Given the description of an element on the screen output the (x, y) to click on. 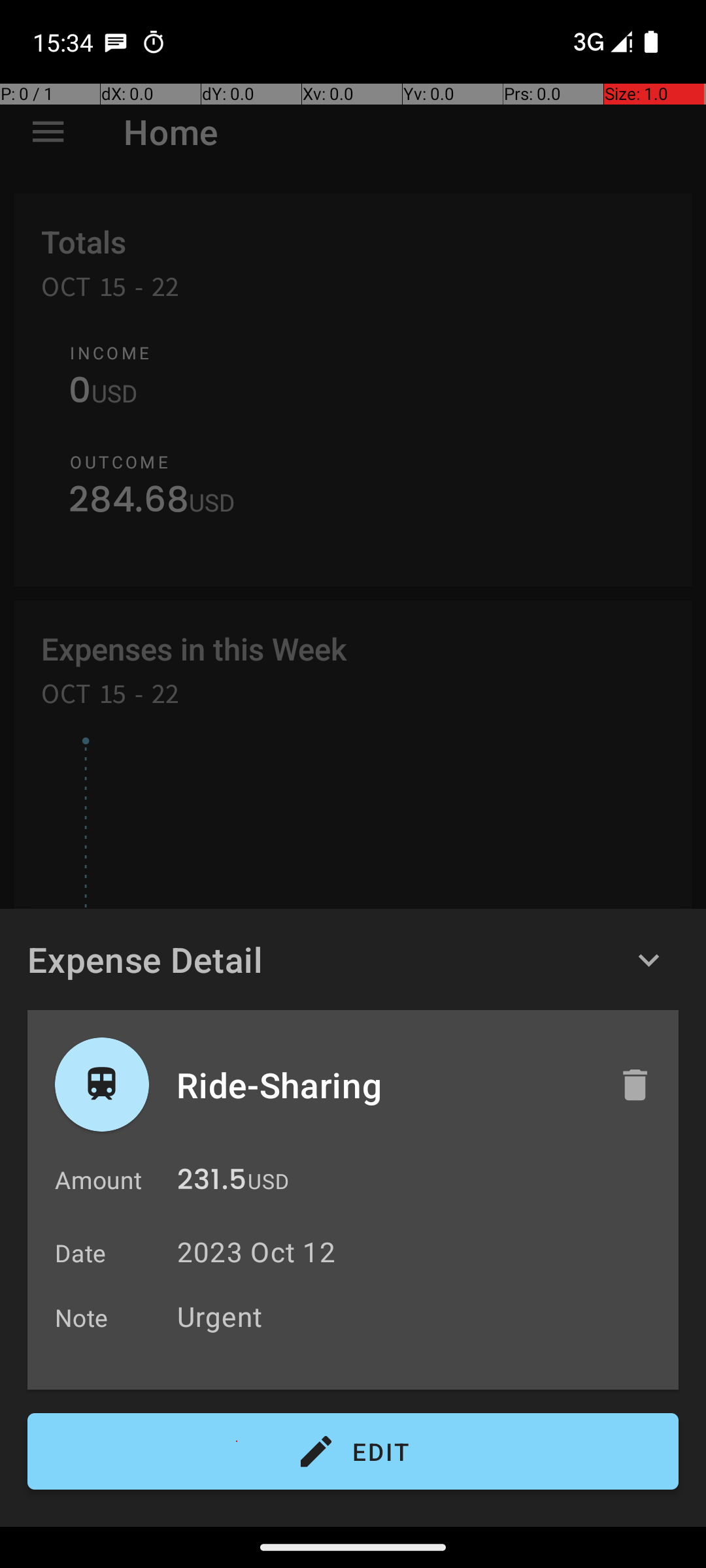
231.5 Element type: android.widget.TextView (211, 1182)
